Given the description of an element on the screen output the (x, y) to click on. 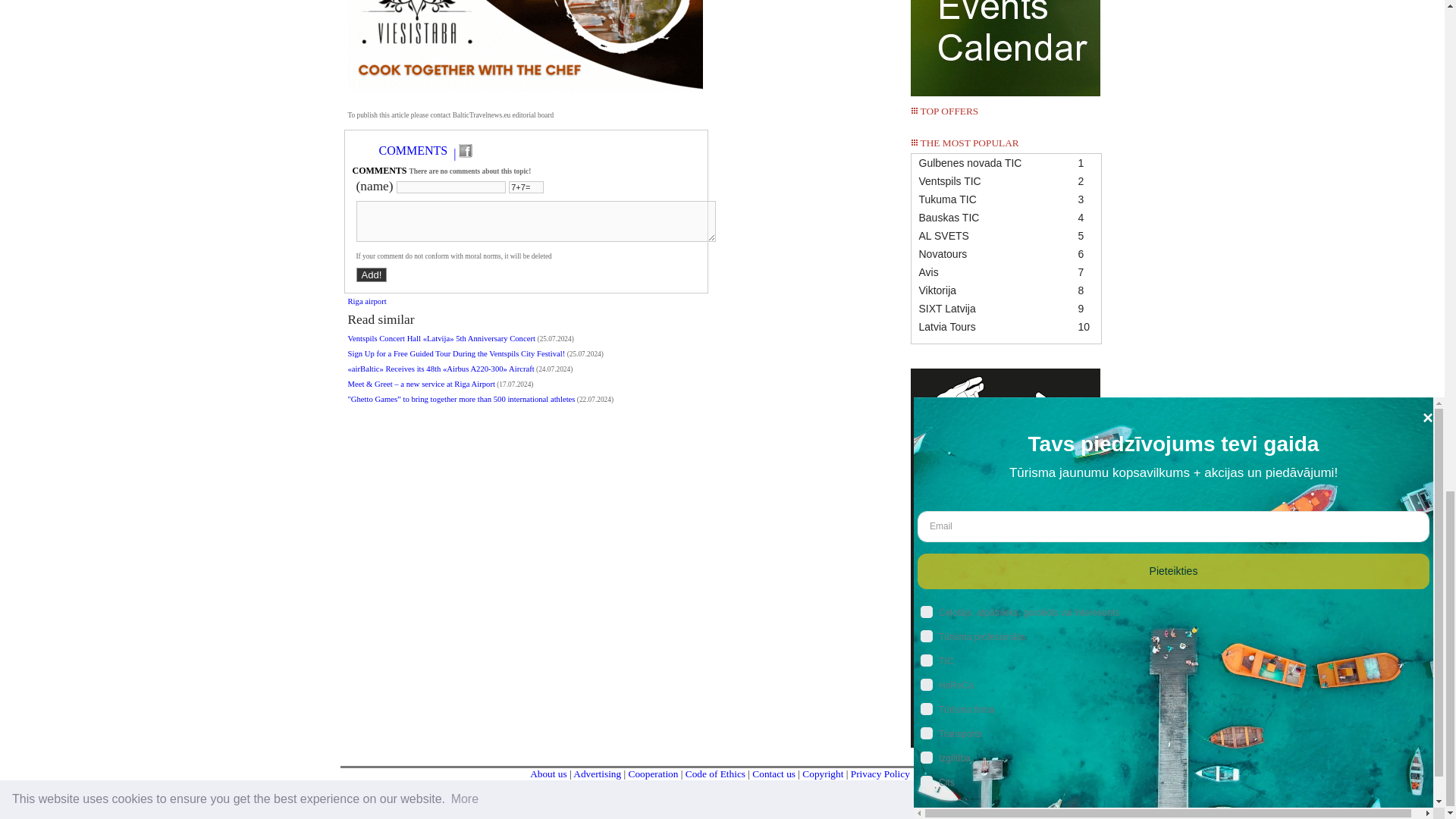
Tukuma TIC (1005, 199)
Add! (371, 274)
Ventspils TIC (1005, 180)
Gulbenes novada TIC (1005, 162)
Add! (371, 274)
COMMENTS (413, 151)
